Given the description of an element on the screen output the (x, y) to click on. 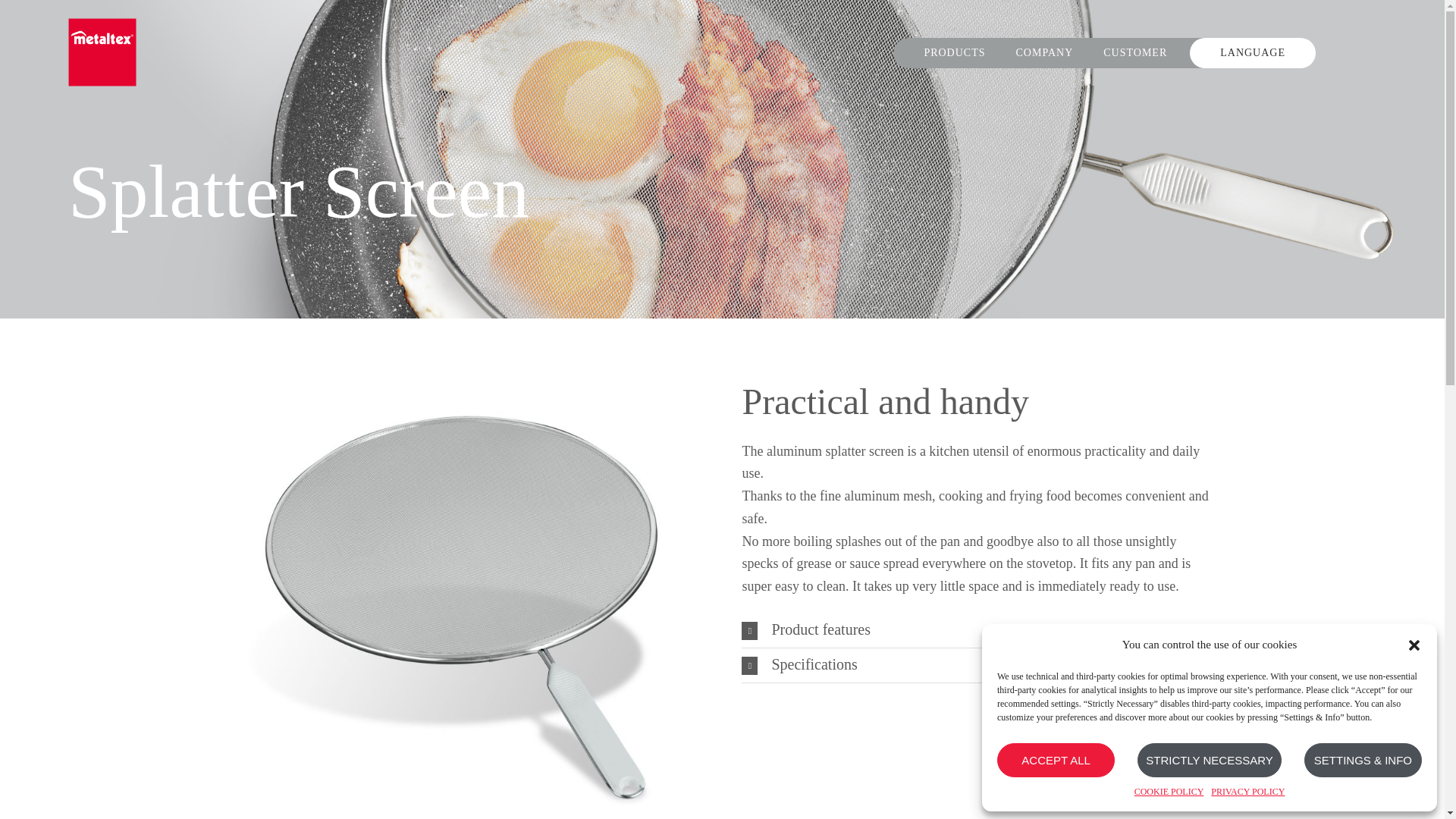
STRICTLY NECESSARY (1209, 759)
COMPANY (1045, 52)
PRIVACY POLICY (1247, 792)
LANGUAGE (1252, 52)
CUSTOMER (1135, 52)
206129 (464, 370)
ACCEPT ALL (1056, 759)
COOKIE POLICY (1169, 792)
PRODUCTS (954, 52)
